Given the description of an element on the screen output the (x, y) to click on. 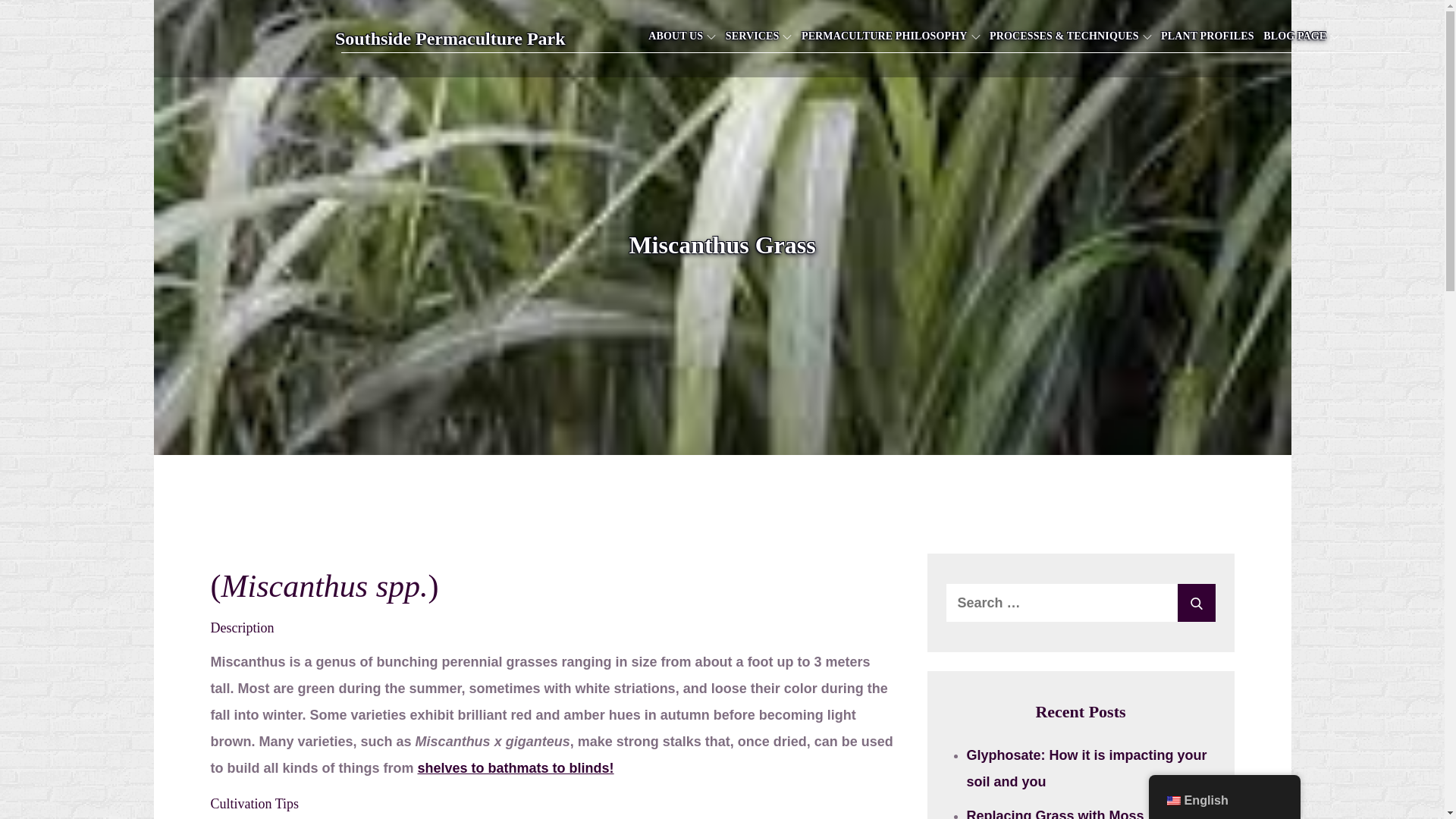
Southside Permaculture Park (450, 38)
Replacing Grass with Moss (1054, 813)
Glyphosate: How it is impacting your soil and you (1086, 768)
SEARCH (1195, 602)
PERMACULTURE PHILOSOPHY (890, 35)
SERVICES (758, 35)
English (1172, 800)
PLANT PROFILES (1207, 35)
BLOG PAGE (1301, 35)
ABOUT US (682, 35)
